Given the description of an element on the screen output the (x, y) to click on. 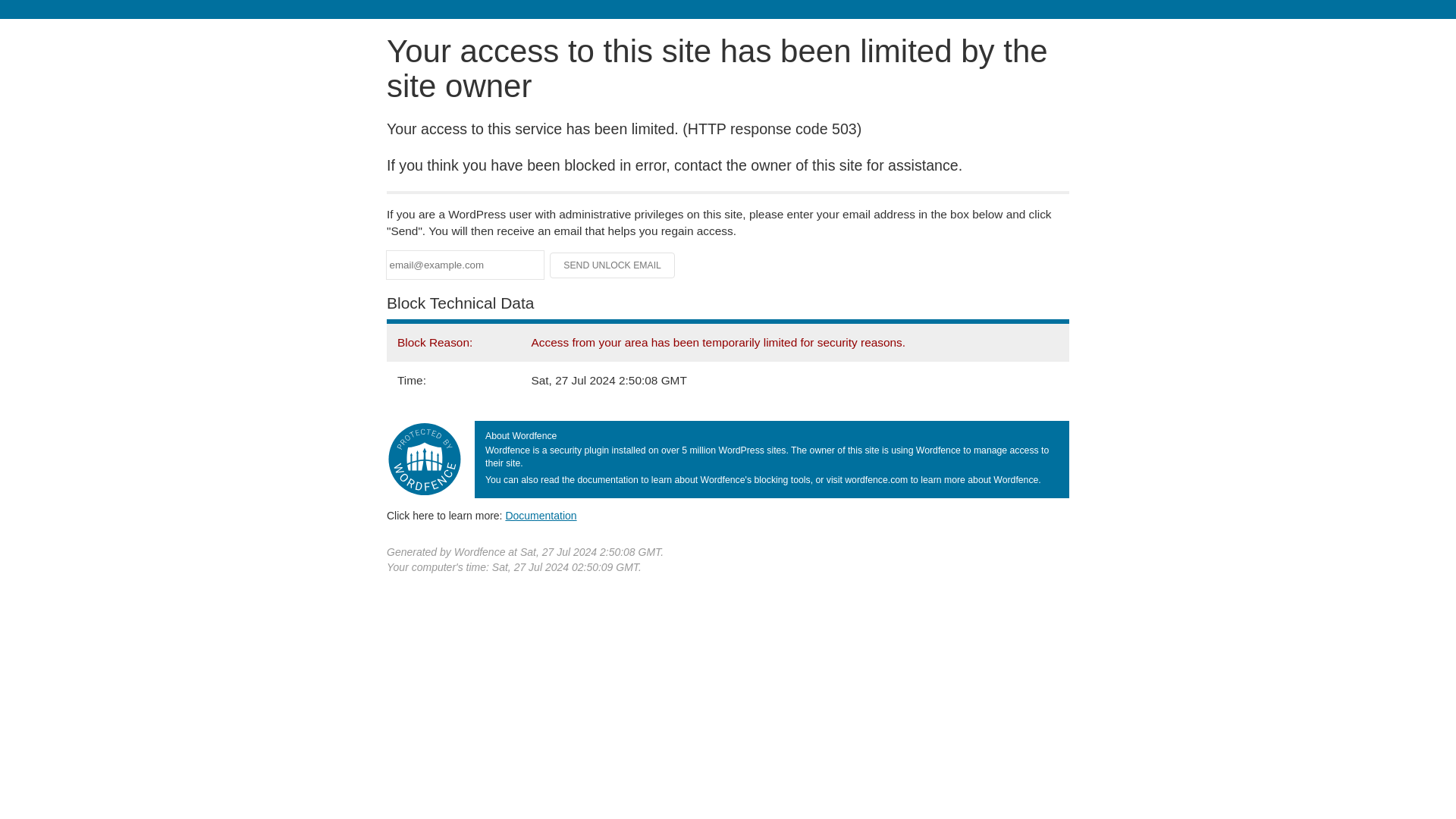
Documentation (540, 515)
Send Unlock Email (612, 265)
Send Unlock Email (612, 265)
